Given the description of an element on the screen output the (x, y) to click on. 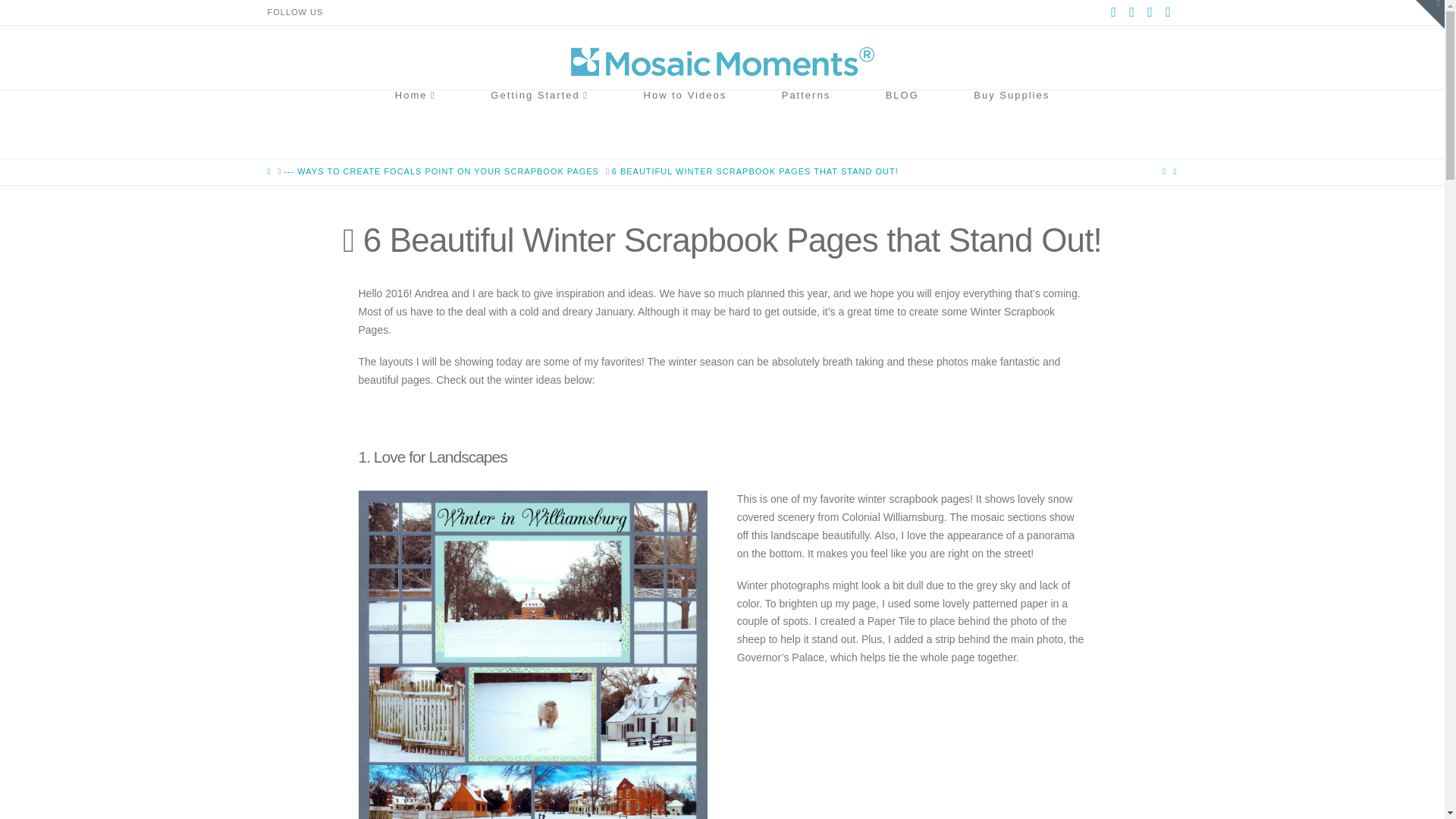
How to Videos (684, 124)
--- WAYS TO CREATE FOCALS POINT ON YOUR SCRAPBOOK PAGES (440, 171)
You Are Here (754, 171)
Buy Supplies (1011, 124)
BLOG (901, 124)
Patterns (805, 124)
Home (416, 124)
Getting Started (539, 124)
